Given the description of an element on the screen output the (x, y) to click on. 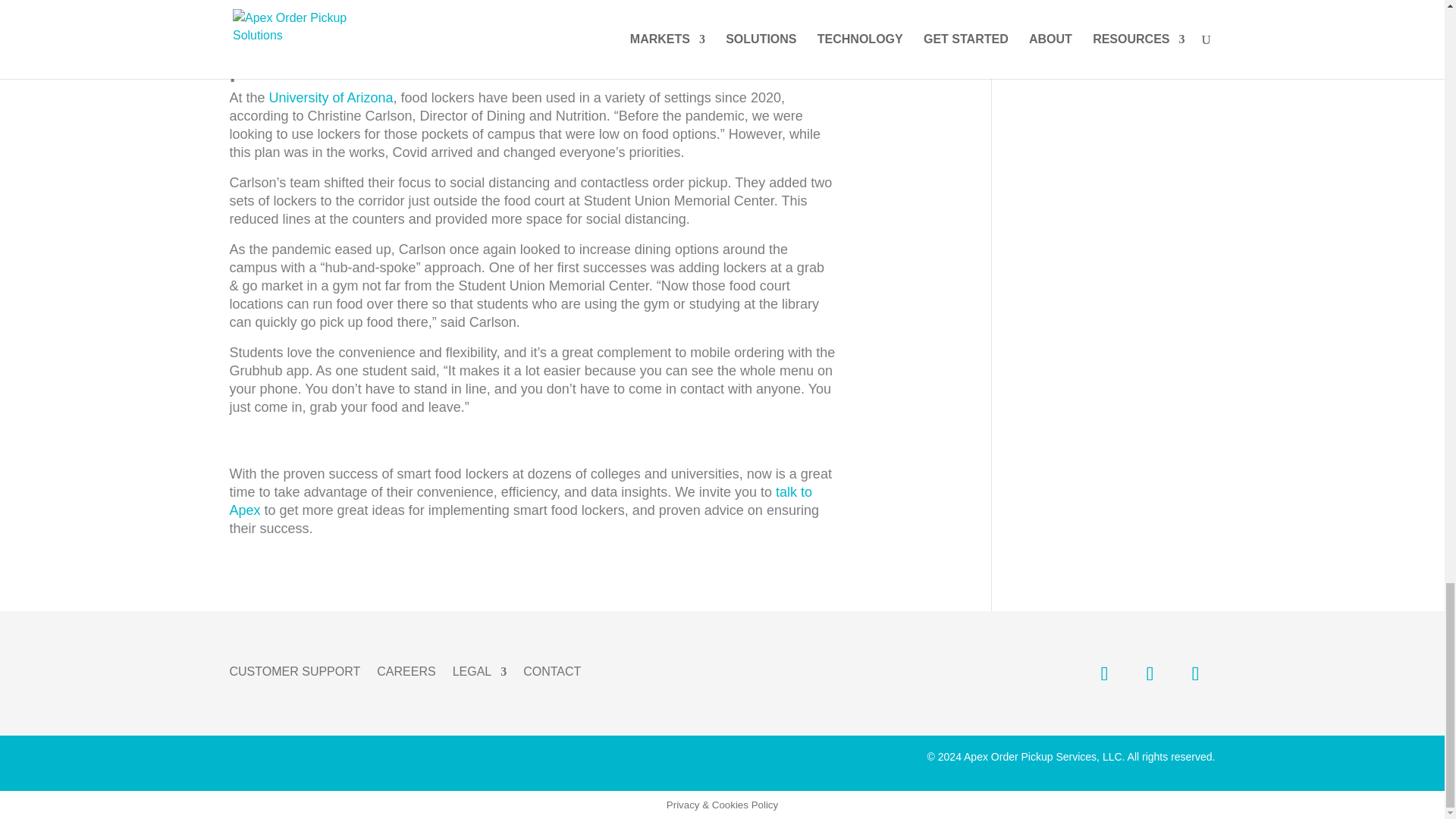
CUSTOMER SUPPORT (293, 668)
CAREERS (406, 668)
CONTACT (551, 668)
Follow on LinkedIn (1104, 673)
University of Arizona (331, 97)
talk to Apex (519, 500)
LEGAL (479, 668)
Follow on Twitter (1149, 673)
Follow on Youtube (1194, 673)
